Given the description of an element on the screen output the (x, y) to click on. 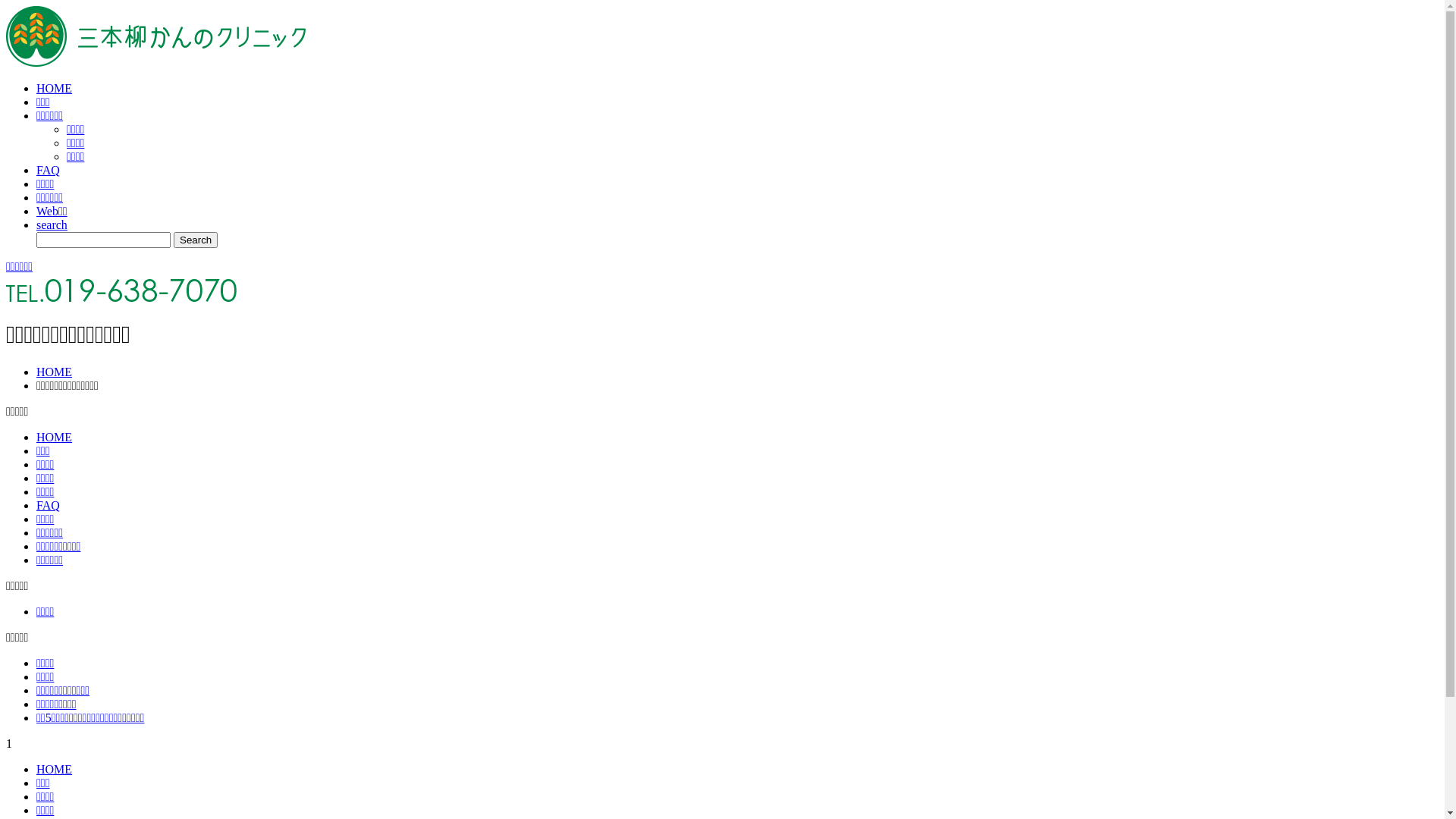
search Element type: text (51, 224)
HOME Element type: text (54, 87)
FAQ Element type: text (47, 169)
HOME Element type: text (54, 436)
HOME Element type: text (54, 371)
HOME Element type: text (54, 768)
FAQ Element type: text (47, 504)
Search Element type: text (195, 239)
